Given the description of an element on the screen output the (x, y) to click on. 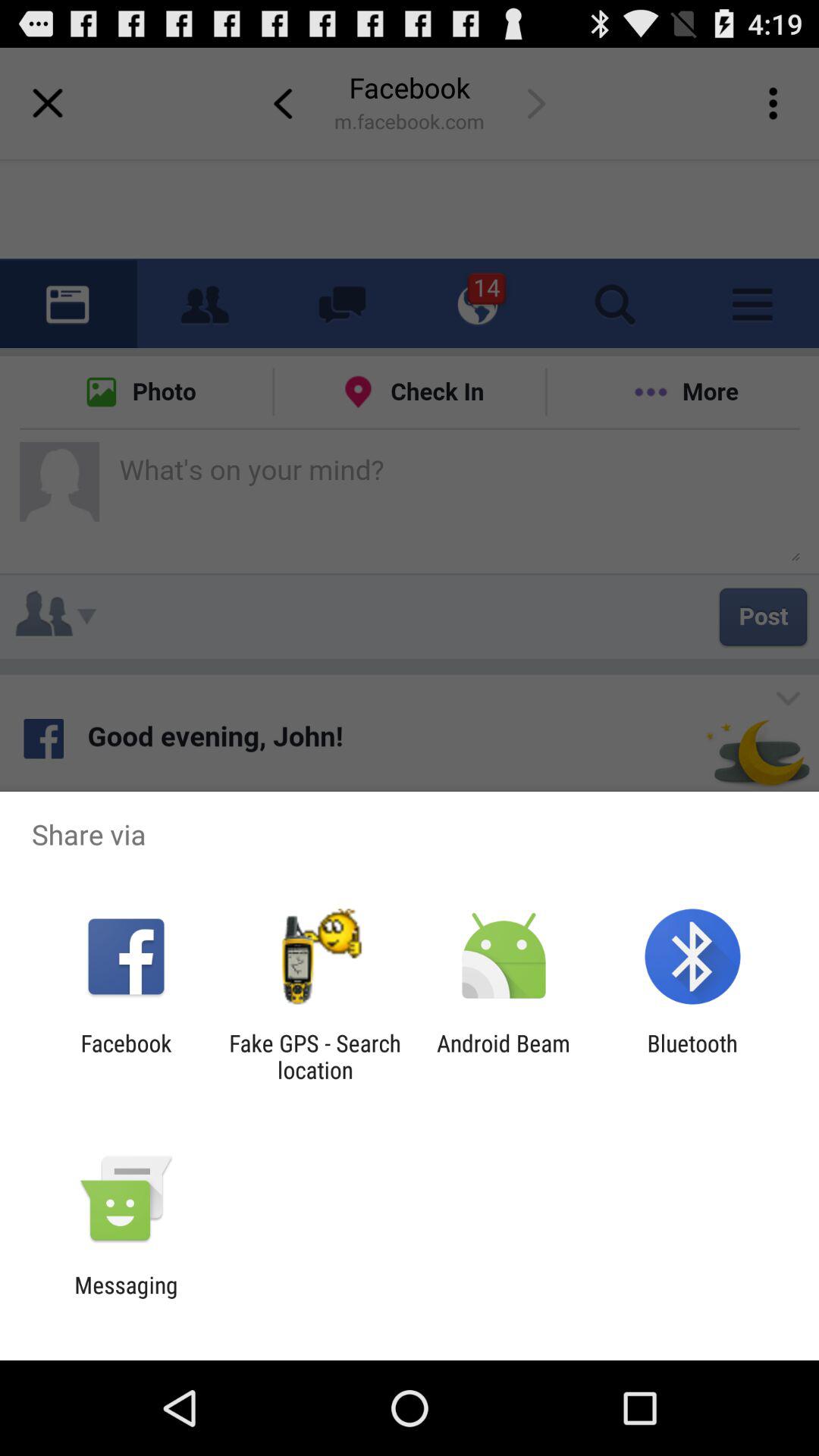
press the icon next to bluetooth (503, 1056)
